Given the description of an element on the screen output the (x, y) to click on. 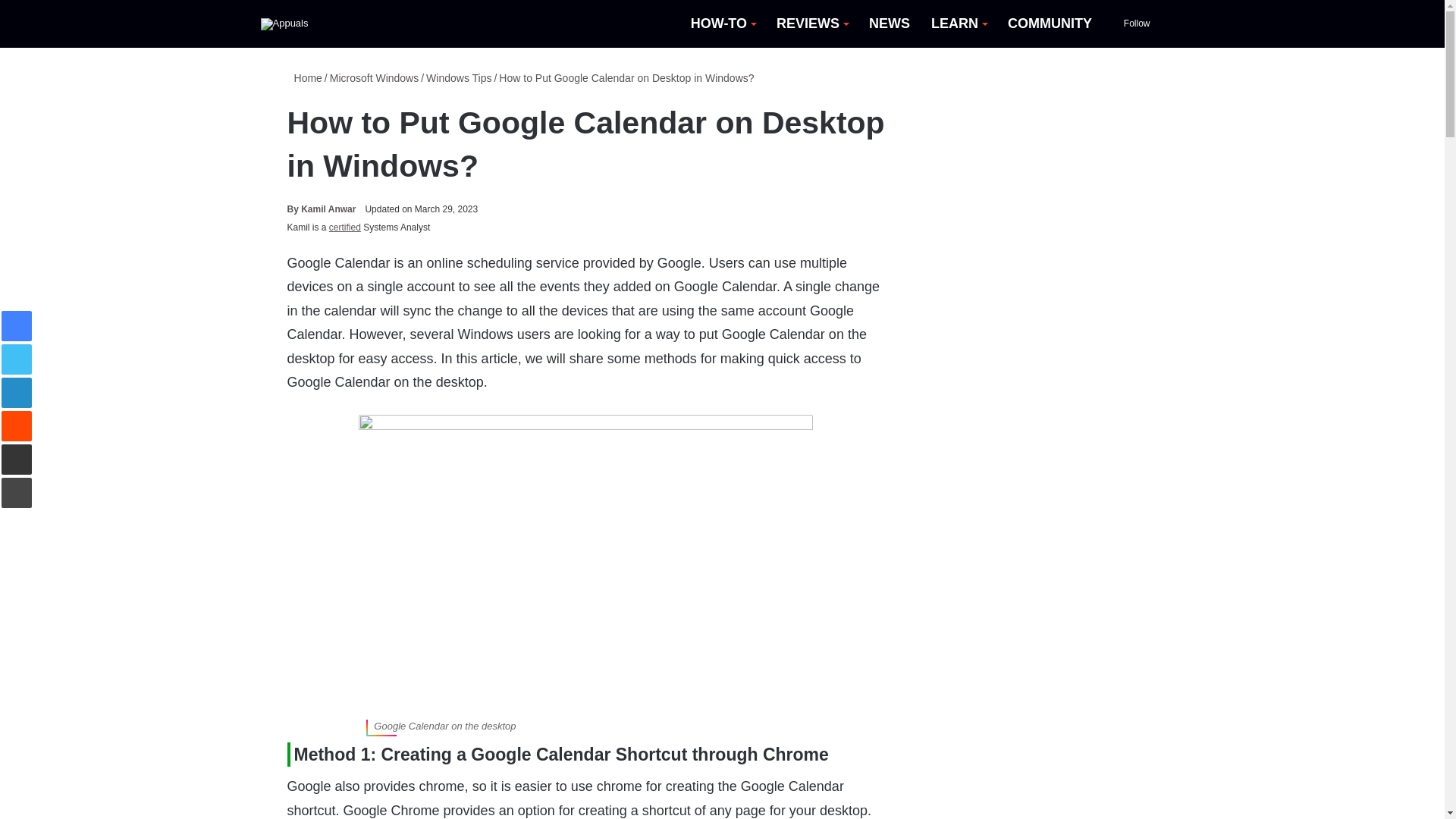
Kamil Anwar (320, 208)
LinkedIn (16, 392)
Reddit (16, 426)
Share via Email (16, 459)
COMMUNITY (1049, 23)
LEARN (958, 23)
NEWS (889, 23)
Facebook (16, 326)
REVIEWS (812, 23)
Twitter (16, 358)
HOW-TO (722, 23)
Appuals (284, 24)
Print (16, 492)
